Given the description of an element on the screen output the (x, y) to click on. 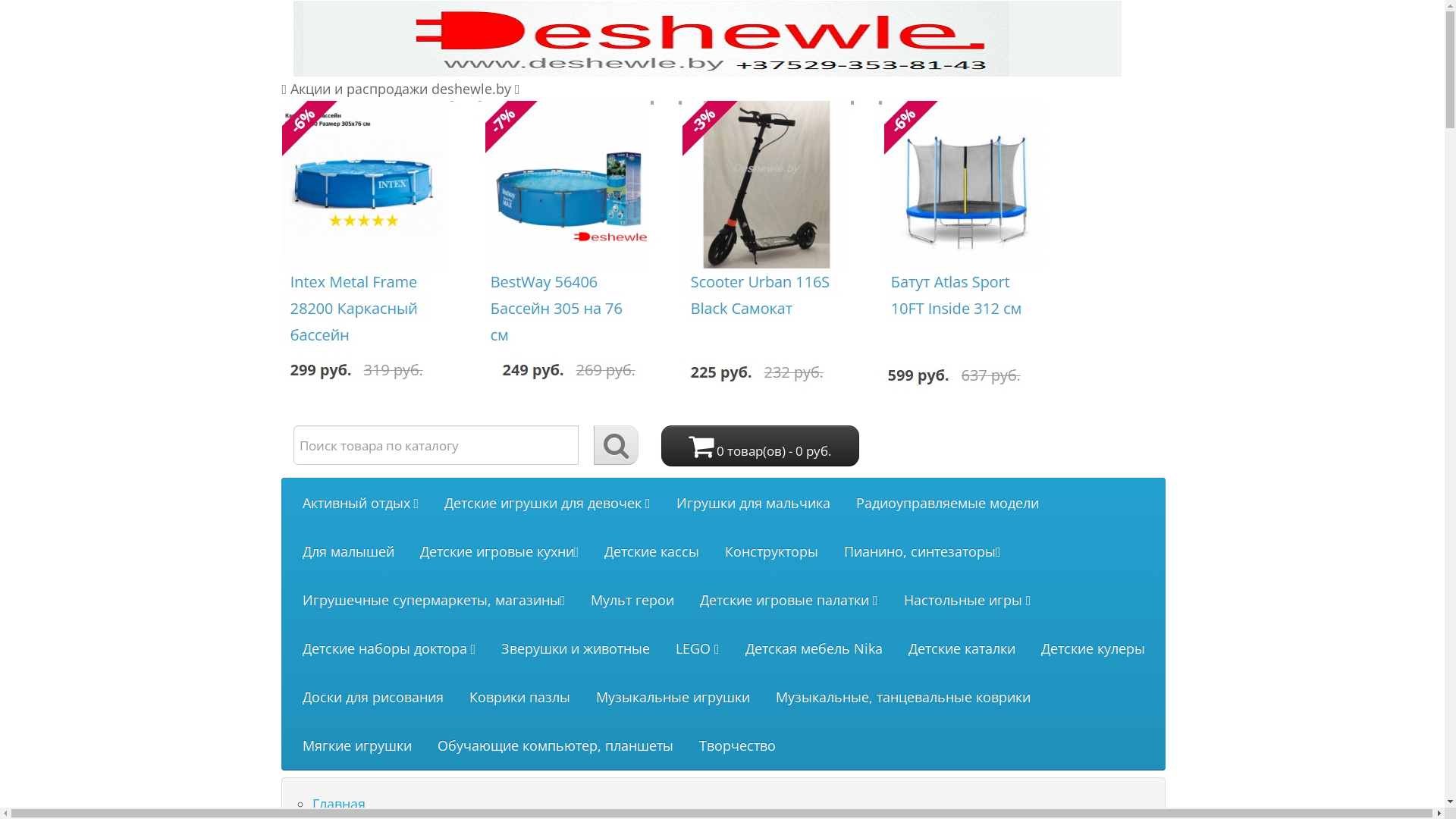
Deshewle.by Element type: hover (706, 38)
